Given the description of an element on the screen output the (x, y) to click on. 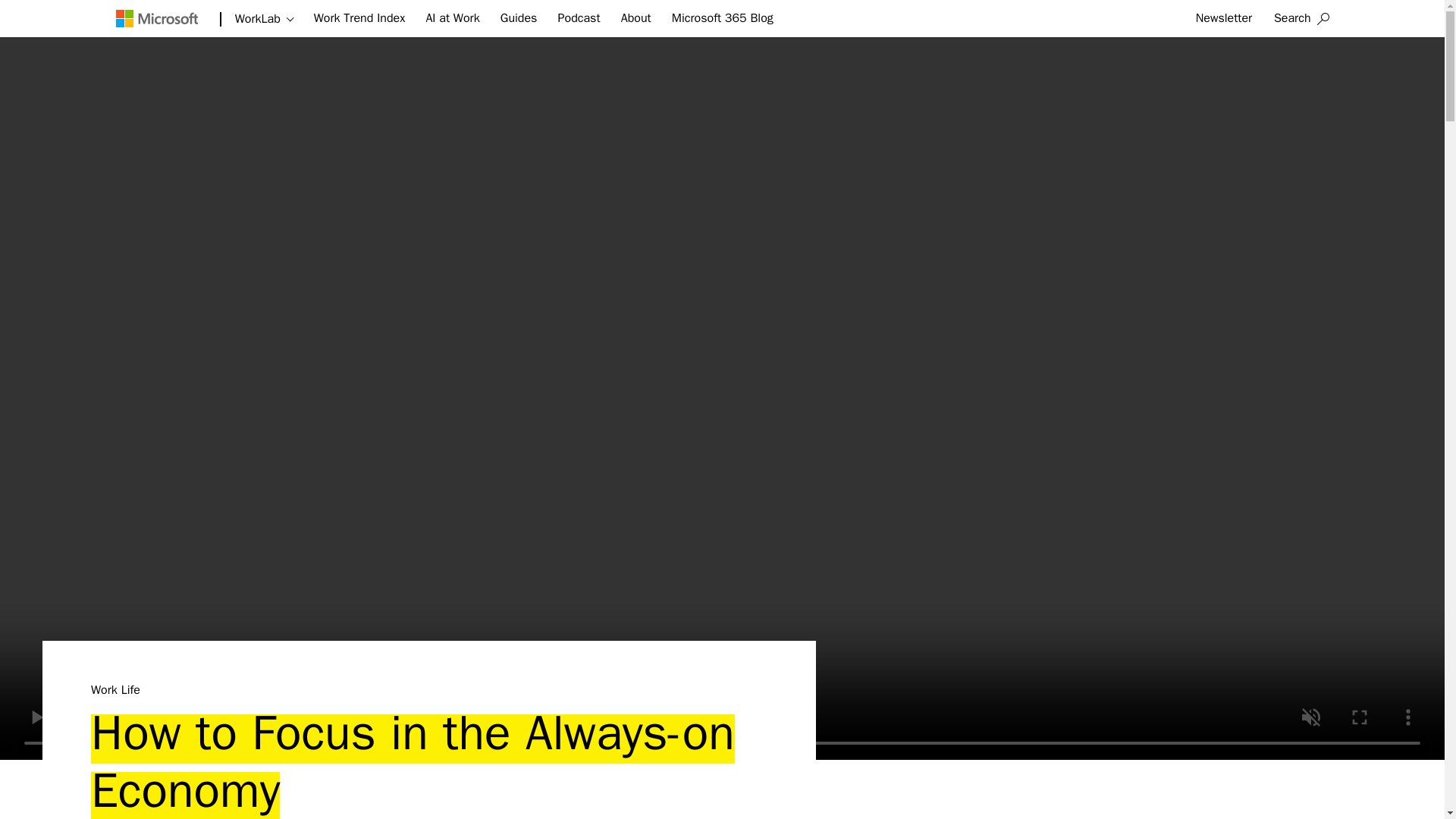
Work Trend Index (359, 17)
WorkLab (264, 19)
About (635, 17)
AI at Work (452, 17)
Podcast (578, 17)
Newsletter (1223, 17)
Search (1301, 18)
Search (1301, 18)
Microsoft 365 Blog (722, 17)
Guides (518, 17)
